Given the description of an element on the screen output the (x, y) to click on. 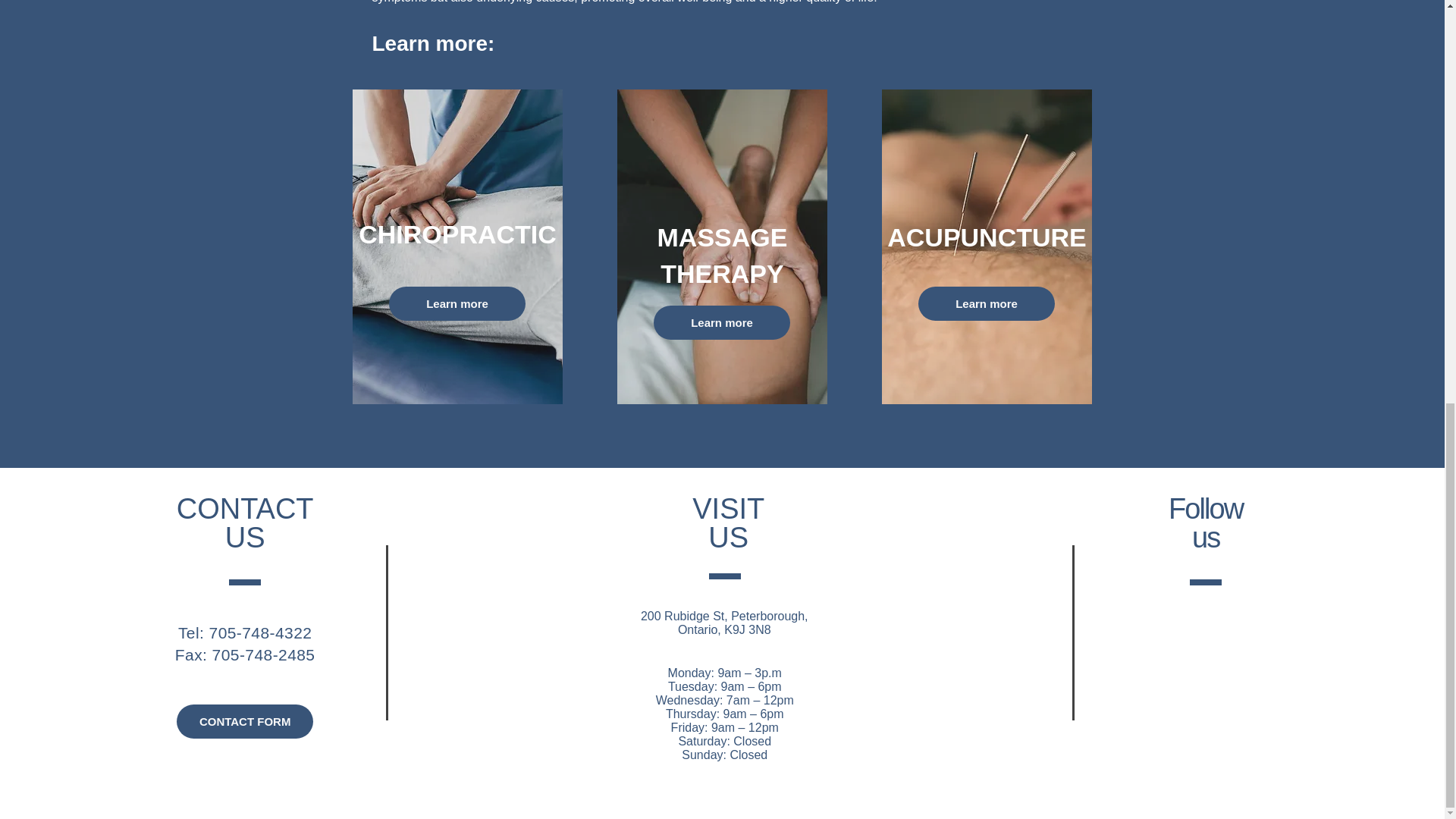
Learn more (721, 322)
Learn more (456, 303)
Learn more (986, 303)
CONTACT FORM (244, 721)
